Given the description of an element on the screen output the (x, y) to click on. 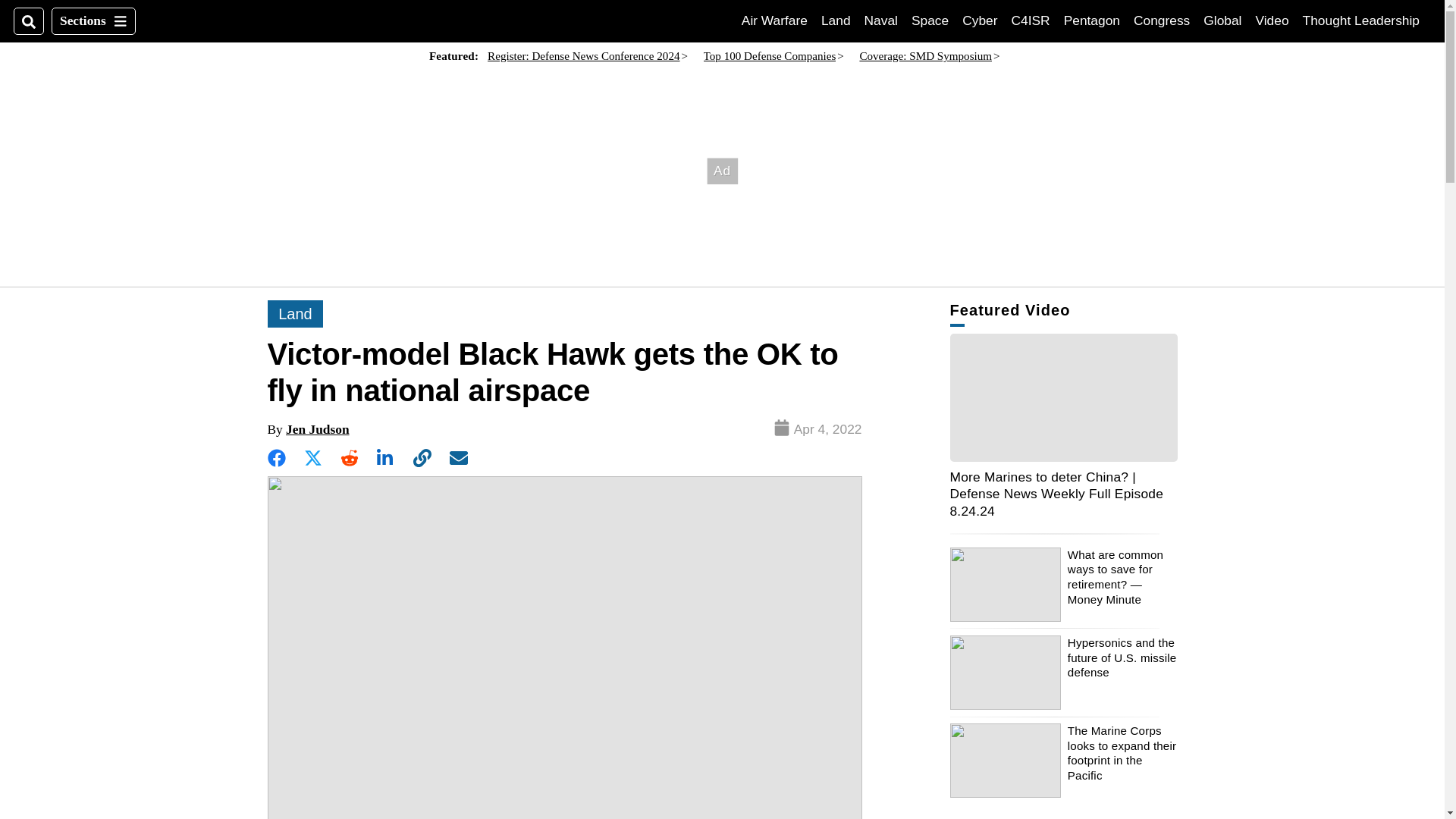
Sections (92, 21)
Land (835, 20)
Thought Leadership (1361, 20)
Congress (1161, 20)
Space (930, 20)
Air Warfare (1030, 20)
Naval (774, 20)
Global (881, 20)
Video (1222, 20)
